Given the description of an element on the screen output the (x, y) to click on. 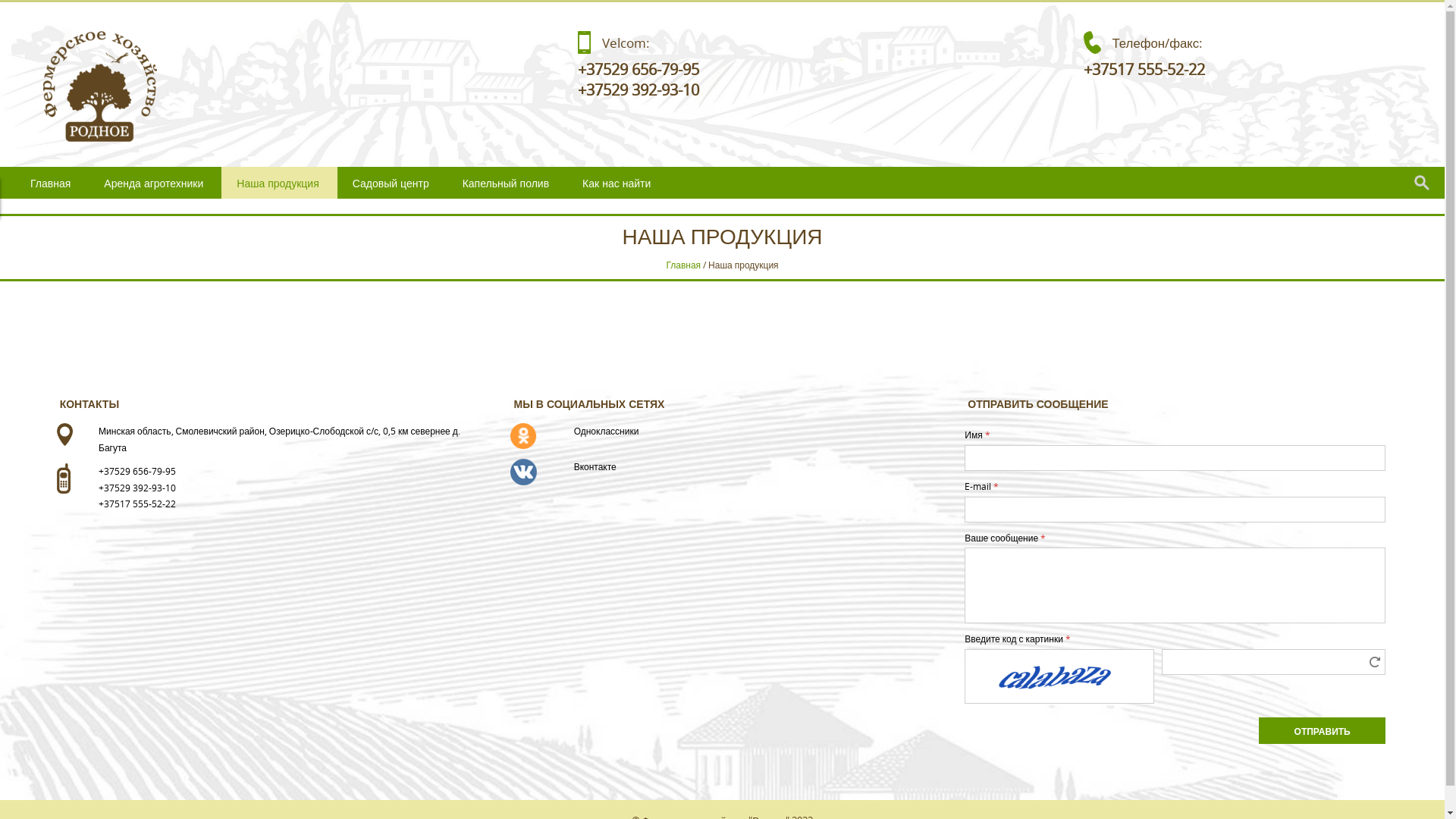
Search for: Element type: hover (1425, 182)
Skip to content Element type: text (37, 176)
+37529 656-79-95 Element type: text (638, 69)
+37517 555-52-22 Element type: text (1143, 69)
+37529 392-93-10 Element type: text (638, 89)
Menu Element type: text (28, 199)
Search Element type: text (26, 14)
